Given the description of an element on the screen output the (x, y) to click on. 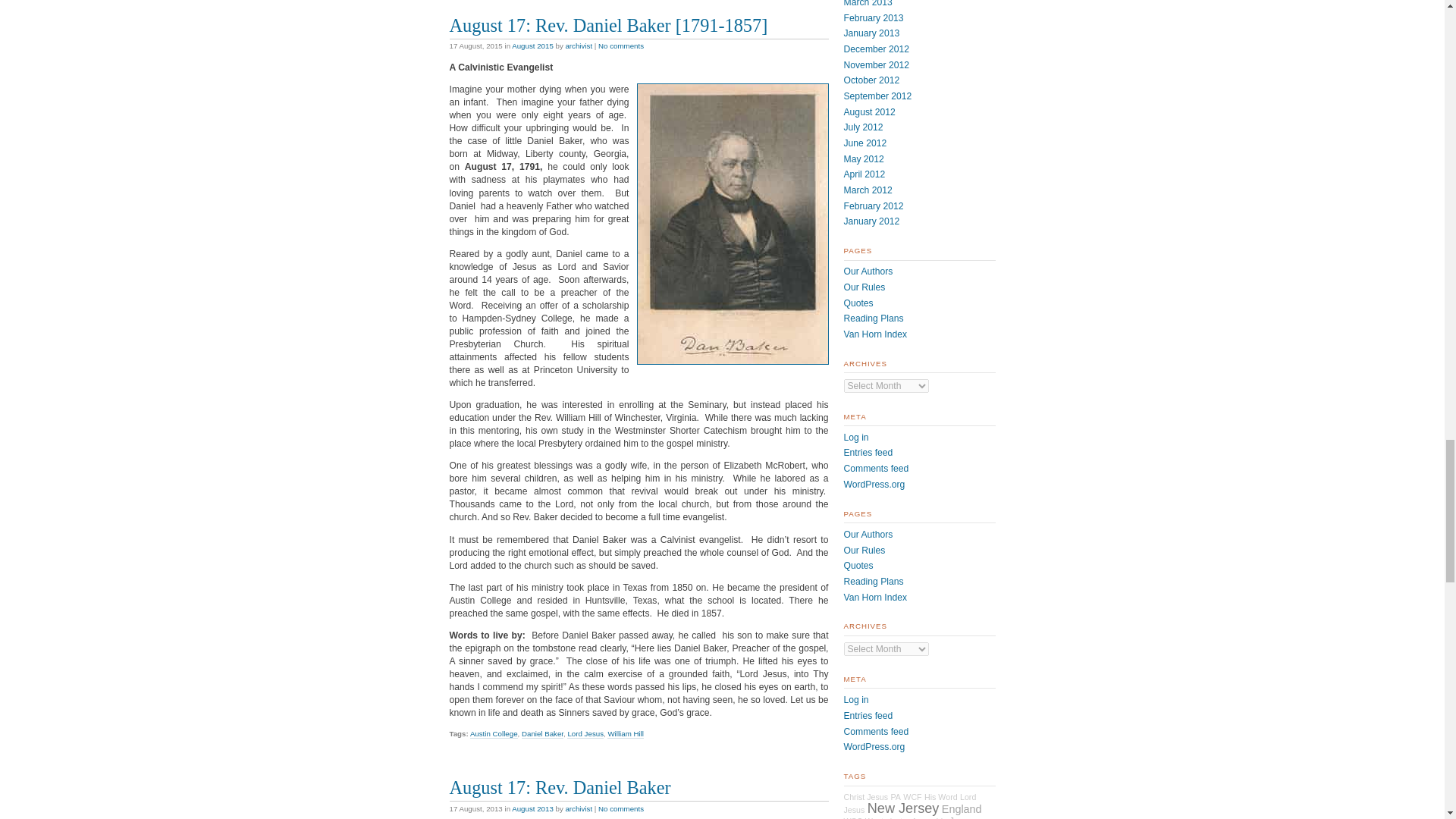
Articles by archivist (578, 45)
August 17: Rev. Daniel Baker (558, 787)
Daniel Baker (542, 733)
Austin College (494, 733)
Articles by archivist (578, 808)
archivist (578, 45)
August 2015 (532, 45)
August 2013 (532, 808)
No comments (620, 45)
Permanent link to August 17: Rev. Daniel Baker (558, 787)
William Hill (625, 733)
archivist (578, 808)
Lord Jesus (585, 733)
